Given the description of an element on the screen output the (x, y) to click on. 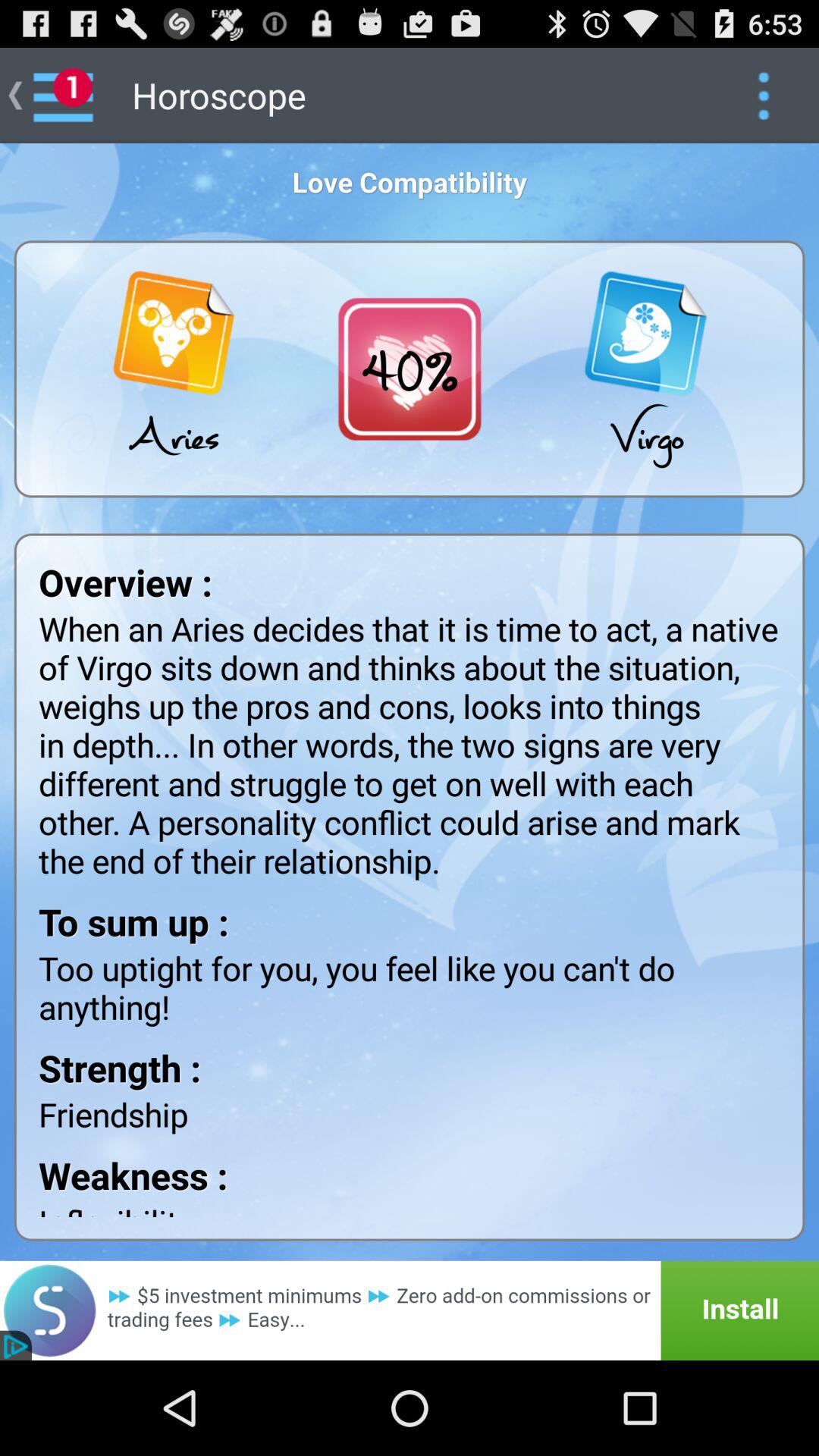
show more options (763, 95)
